Given the description of an element on the screen output the (x, y) to click on. 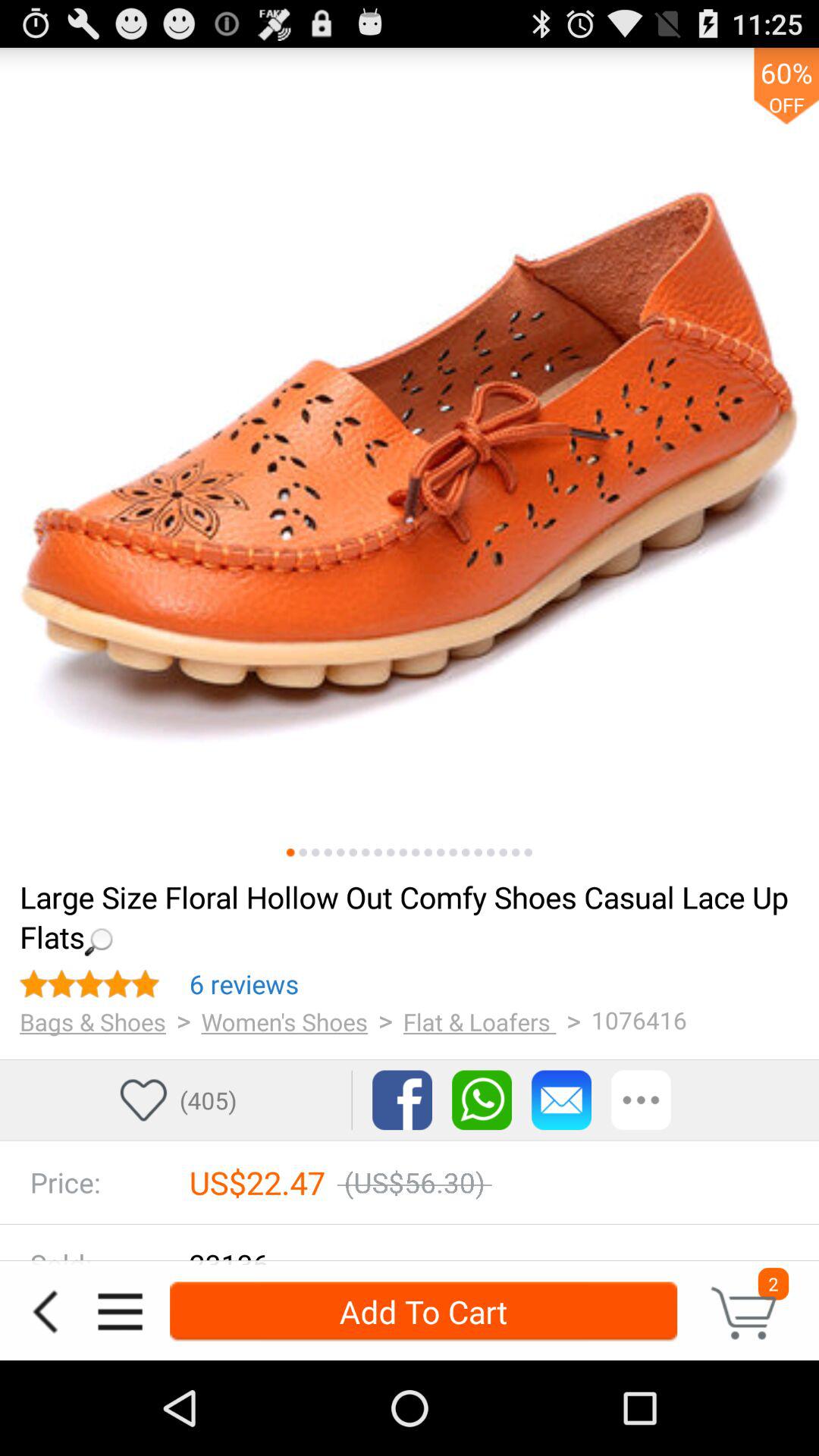
see additional pictures (378, 852)
